Given the description of an element on the screen output the (x, y) to click on. 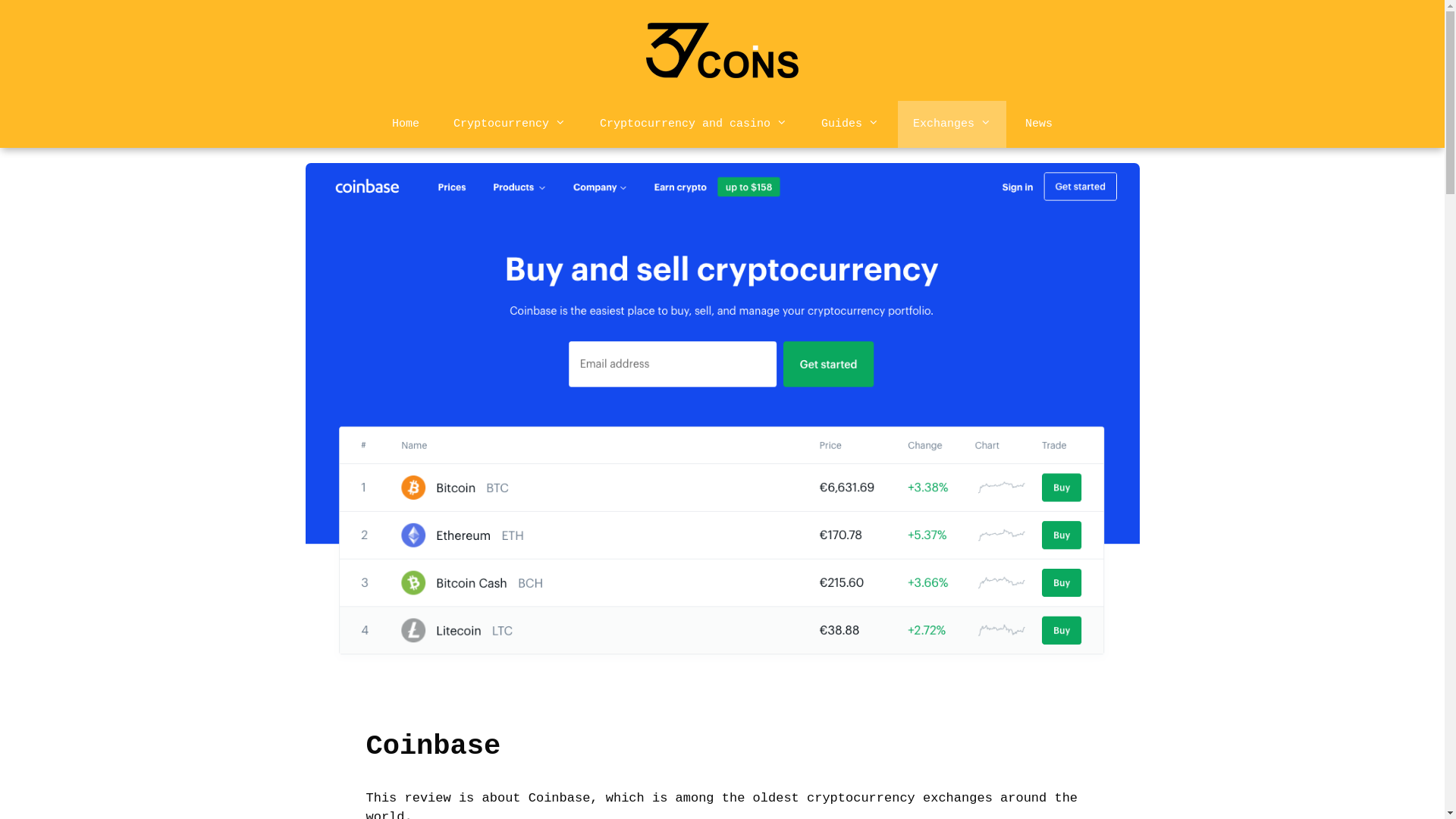
News Element type: text (1038, 123)
Home Element type: text (405, 123)
Cryptocurrency Element type: text (509, 123)
Guides Element type: text (850, 123)
Cryptocurrency and casino Element type: text (693, 123)
Exchanges Element type: text (951, 123)
